Given the description of an element on the screen output the (x, y) to click on. 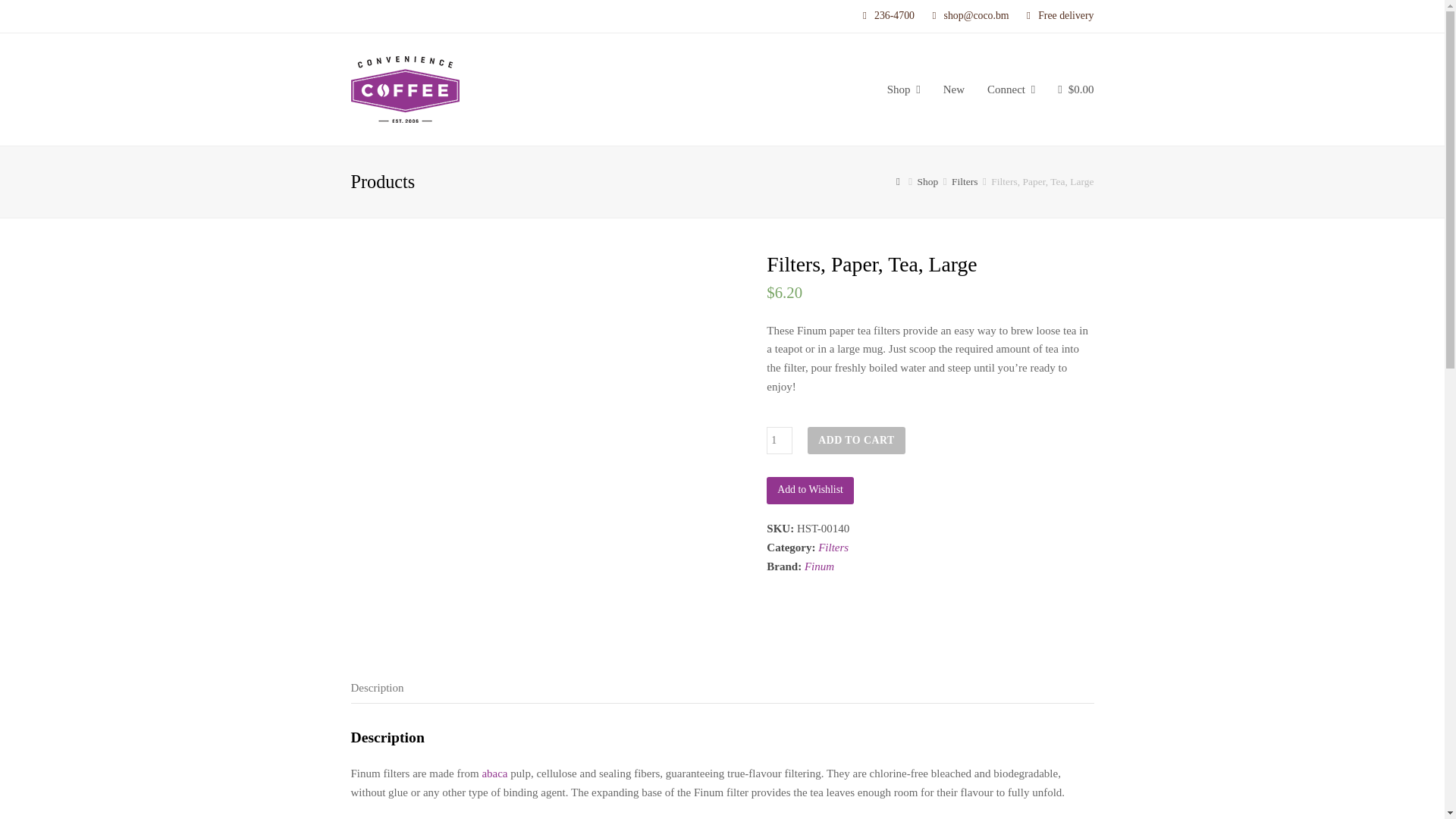
Connect (1010, 89)
Shop (903, 89)
236-4700 (888, 16)
abaca (493, 773)
Finum (819, 566)
Description (376, 687)
Filters (833, 547)
Filters (965, 181)
Qty (779, 440)
ADD TO CART (856, 440)
